Given the description of an element on the screen output the (x, y) to click on. 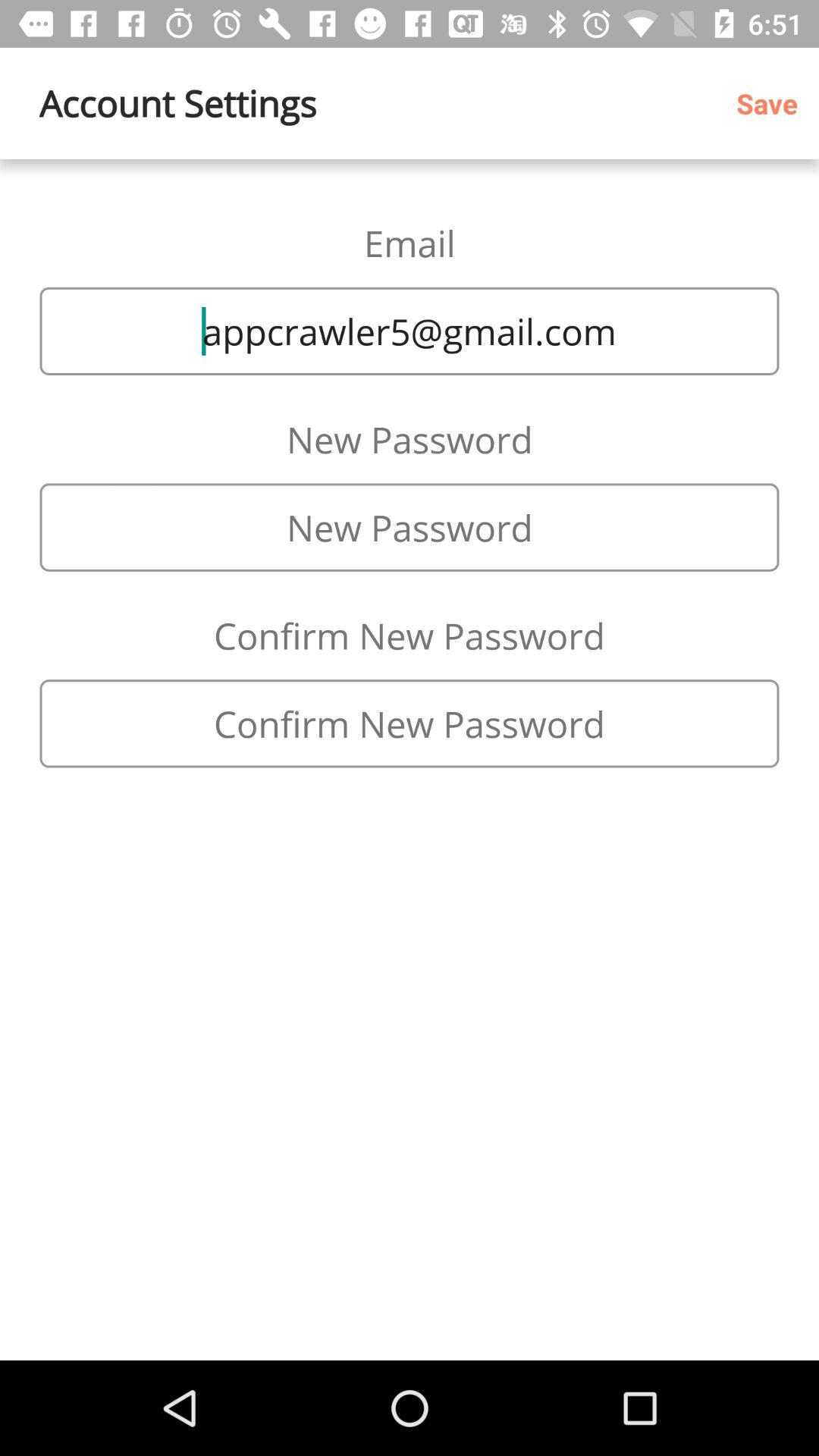
re-enter password (409, 723)
